Given the description of an element on the screen output the (x, y) to click on. 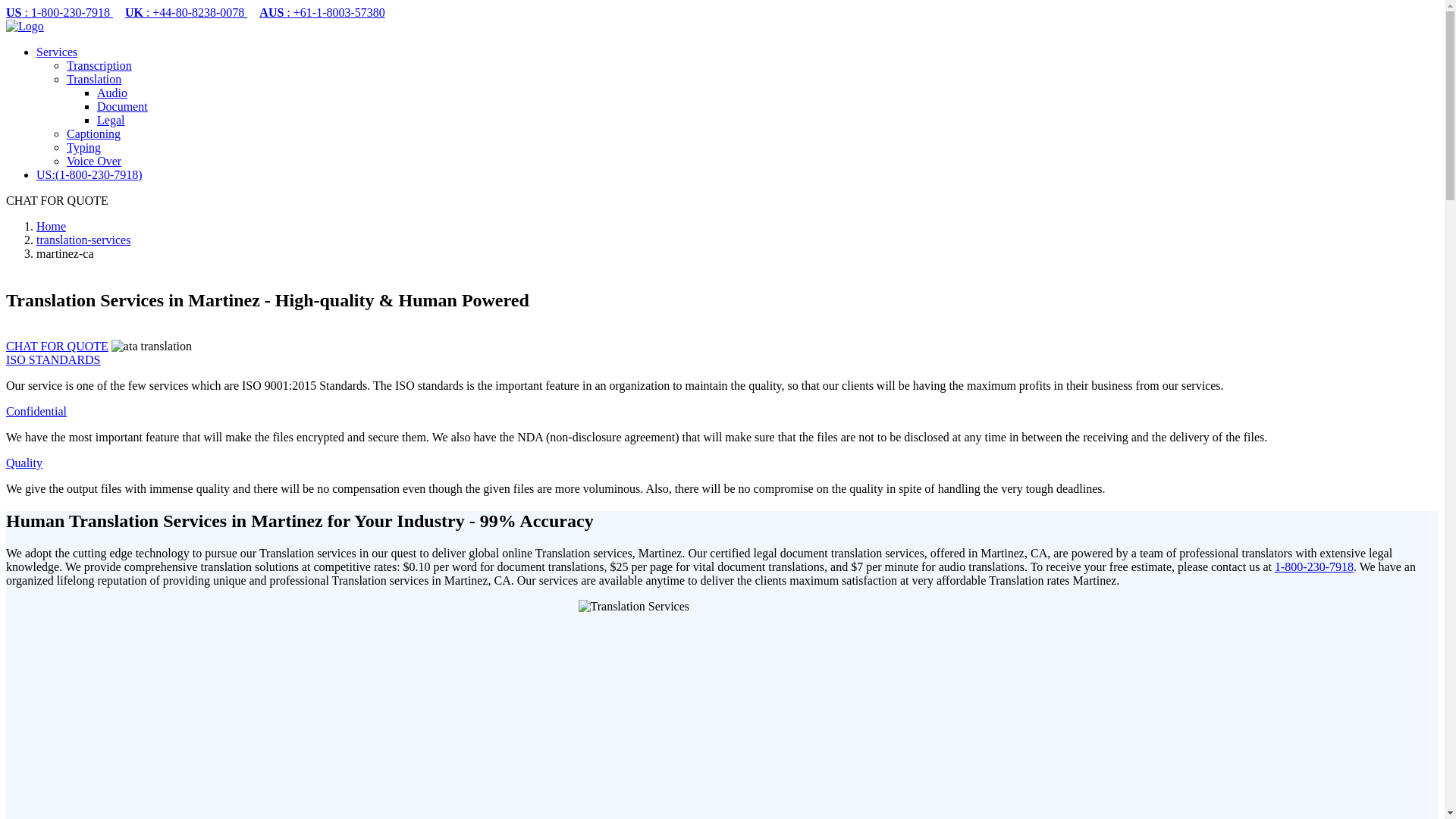
Translation (93, 78)
Confidential (35, 410)
Transcription (99, 65)
Audio (112, 92)
Voice Over (93, 160)
Document (122, 106)
Translation Services (722, 709)
ISO STANDARDS (52, 359)
US : 1-800-230-7918 (59, 11)
Legal (110, 119)
Captioning (93, 133)
CHAT FOR QUOTE (56, 345)
CHAT FOR QUOTE (56, 345)
translation-services (83, 239)
CHAT FOR QUOTE (56, 200)
